Given the description of an element on the screen output the (x, y) to click on. 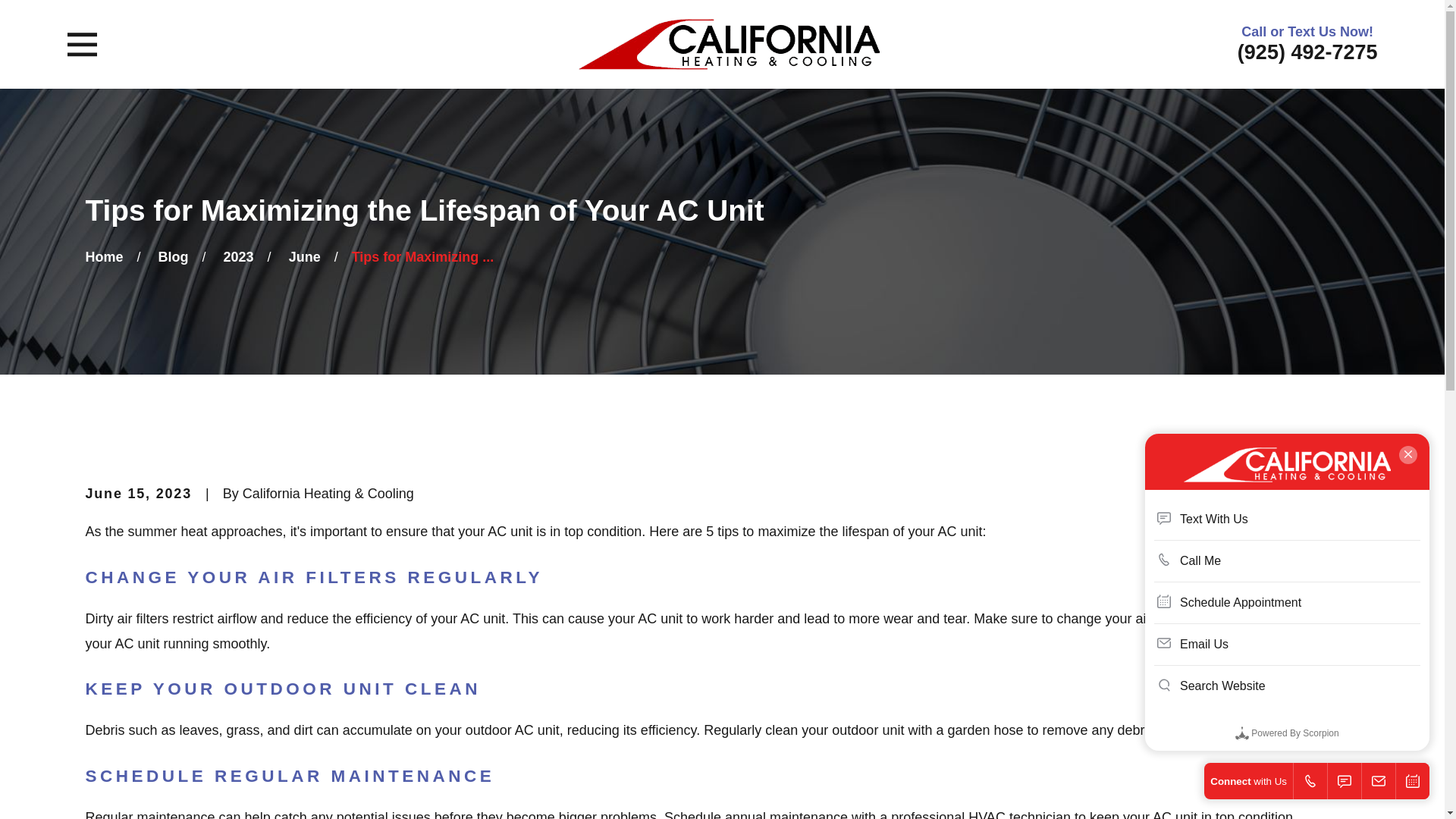
Home (103, 256)
2023 (238, 256)
Home (728, 43)
Go Home (103, 256)
Blog (173, 256)
Main Menu (81, 44)
June (304, 256)
